Given the description of an element on the screen output the (x, y) to click on. 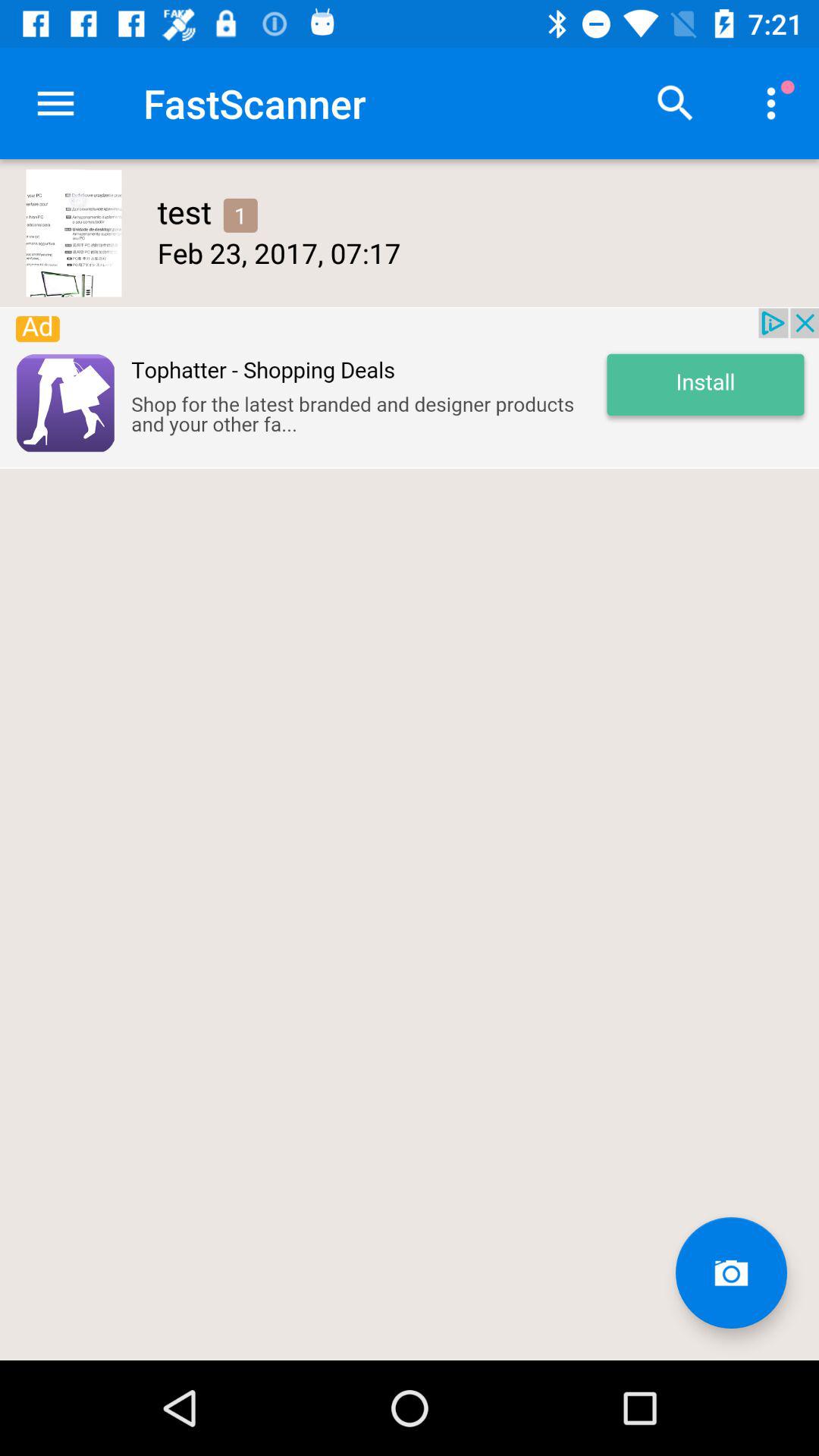
open settings (55, 103)
